Given the description of an element on the screen output the (x, y) to click on. 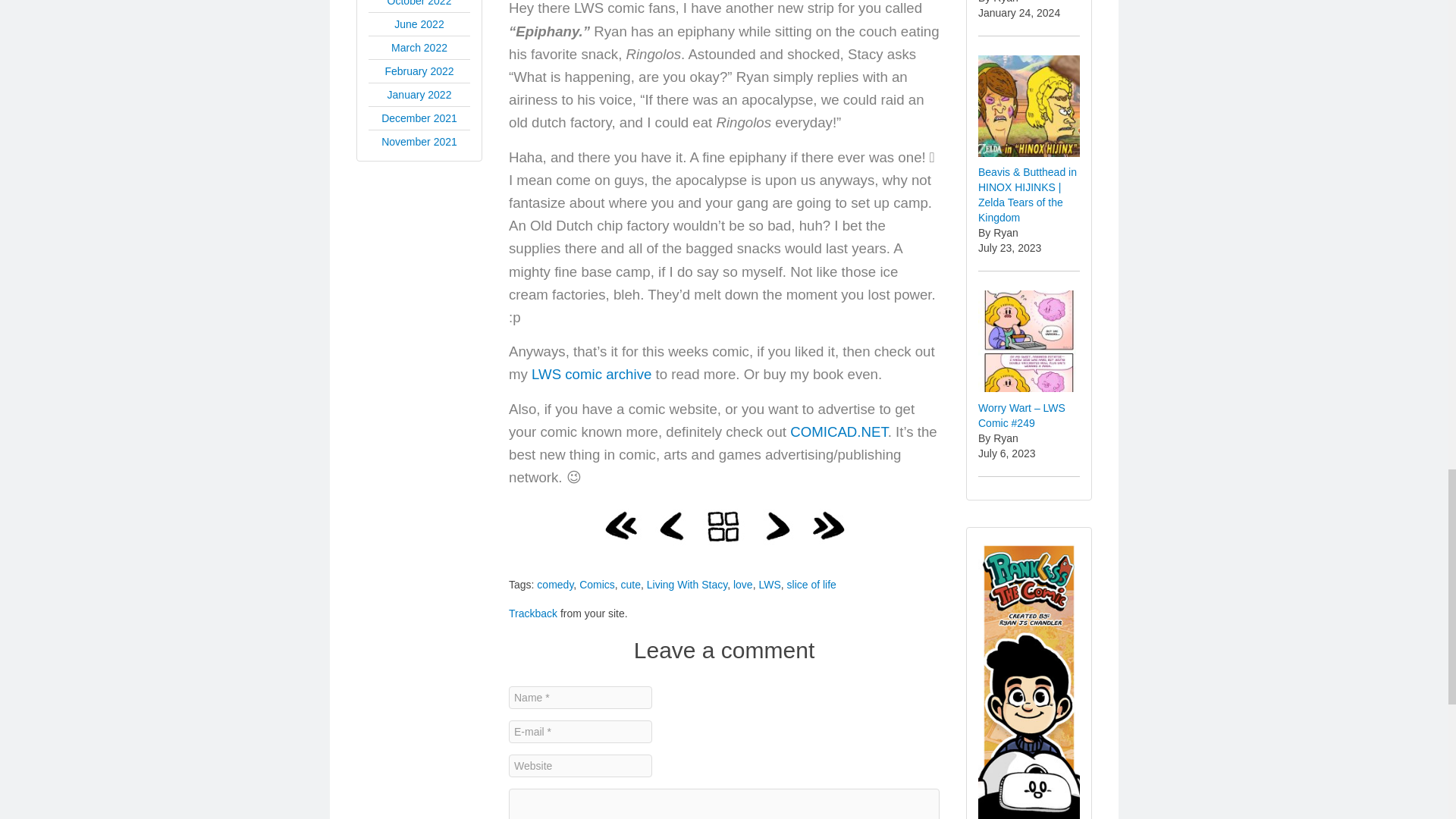
slice of life (811, 584)
Comics (596, 584)
cute (630, 584)
Living With Stacy (686, 584)
LWS (769, 584)
FIRST COMIC (620, 526)
love (742, 584)
Trackback (532, 613)
LWS comic archive (590, 374)
comedy (555, 584)
